Given the description of an element on the screen output the (x, y) to click on. 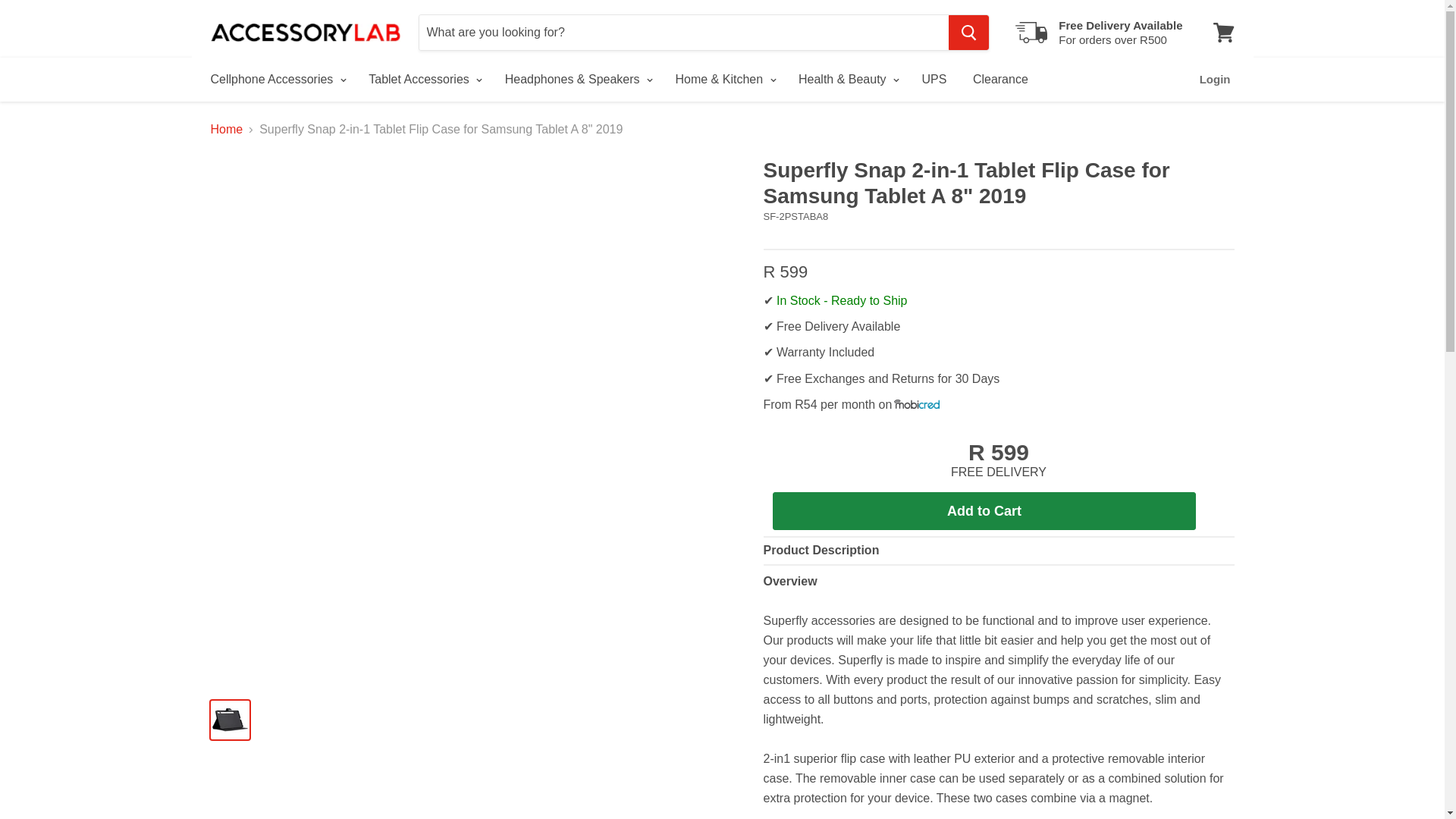
Cellphone Accessories (275, 79)
View cart (1098, 32)
Tablet Accessories (1223, 32)
